Given the description of an element on the screen output the (x, y) to click on. 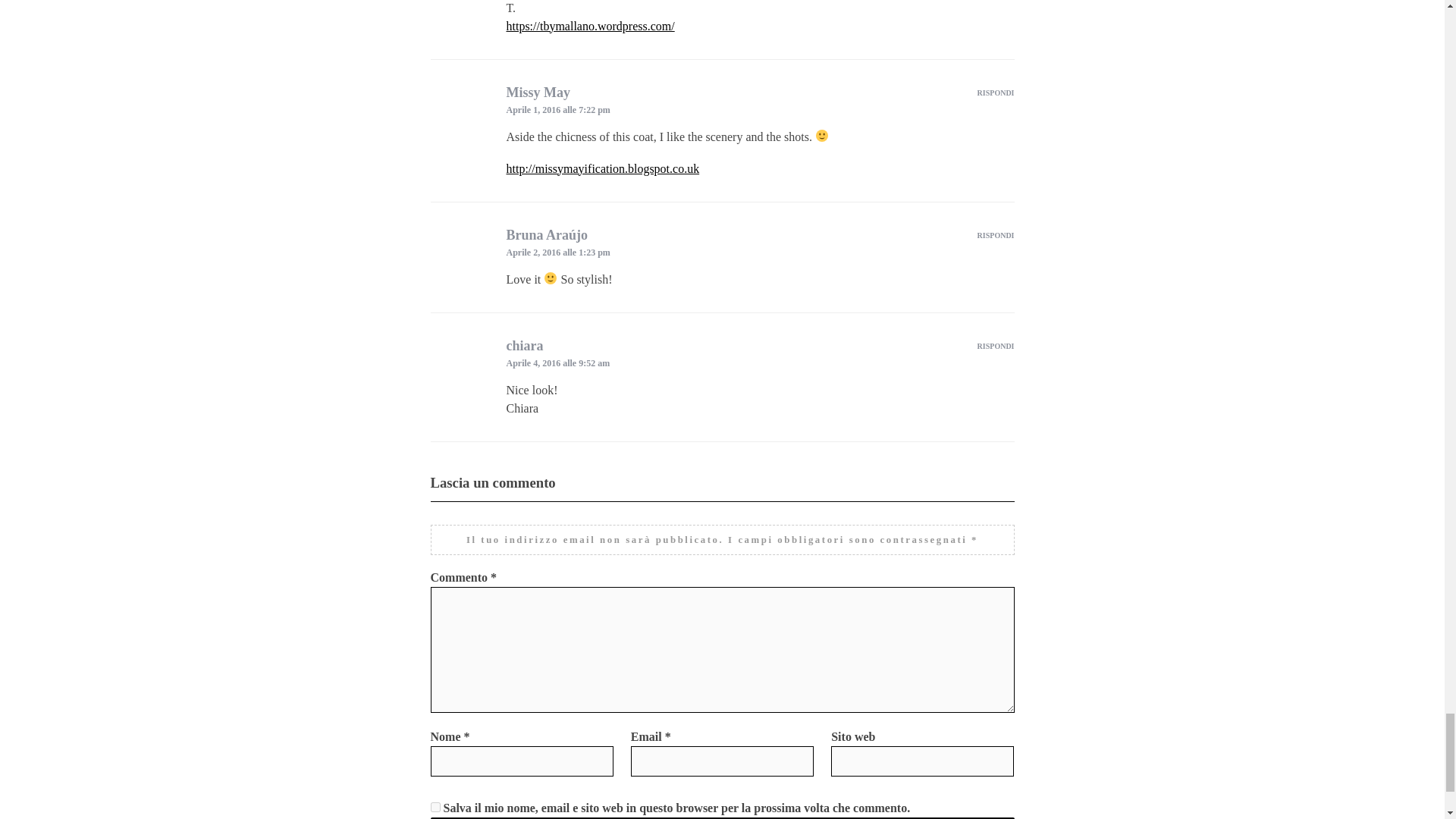
yes (435, 807)
